Given the description of an element on the screen output the (x, y) to click on. 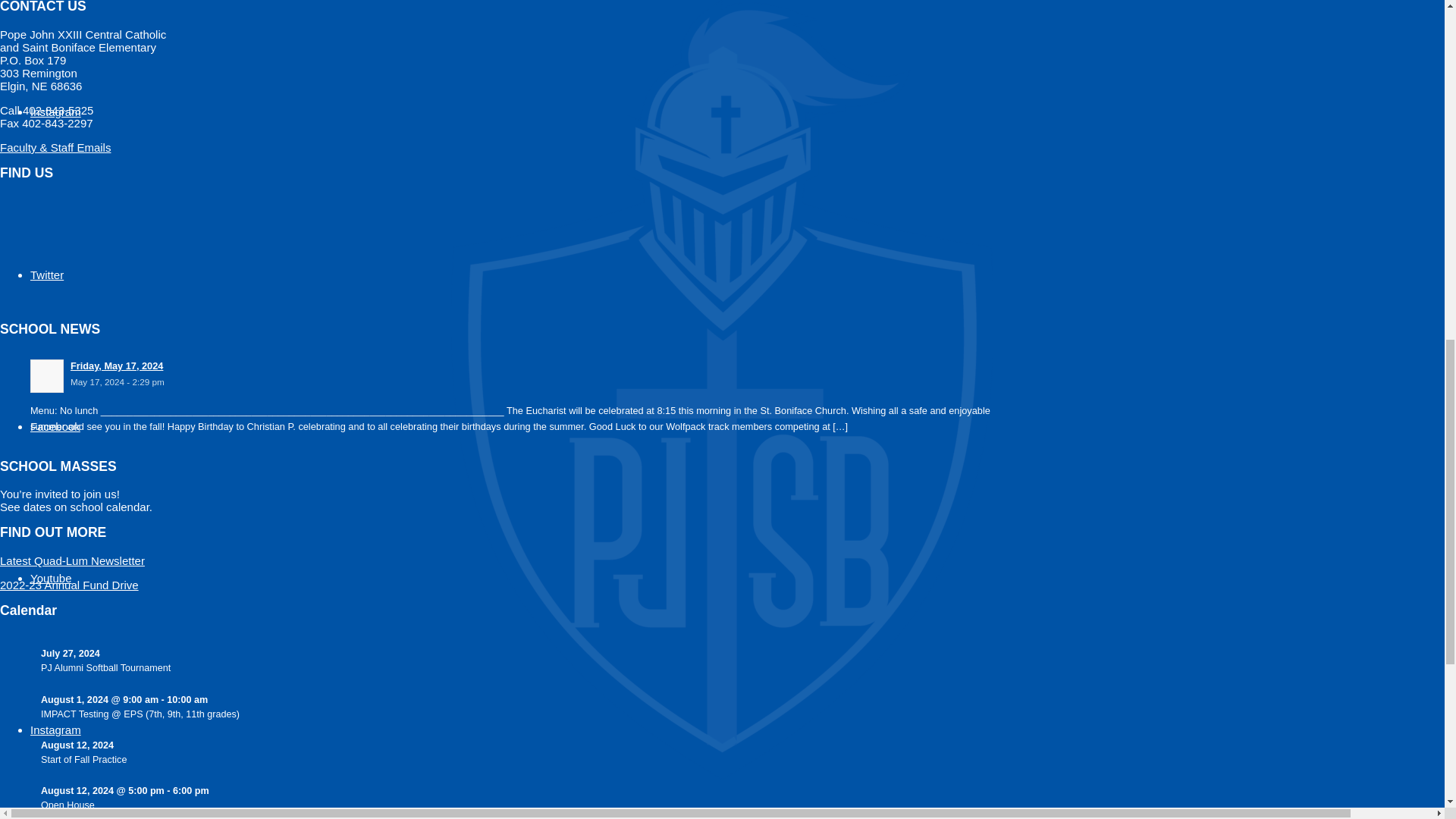
Instagram (55, 111)
Instagram (55, 729)
Facebook (55, 426)
Twitter (47, 274)
Facebook (55, 426)
Youtube (50, 577)
Instagram (55, 729)
Youtube (50, 577)
Instagram (55, 111)
Twitter (47, 274)
